Given the description of an element on the screen output the (x, y) to click on. 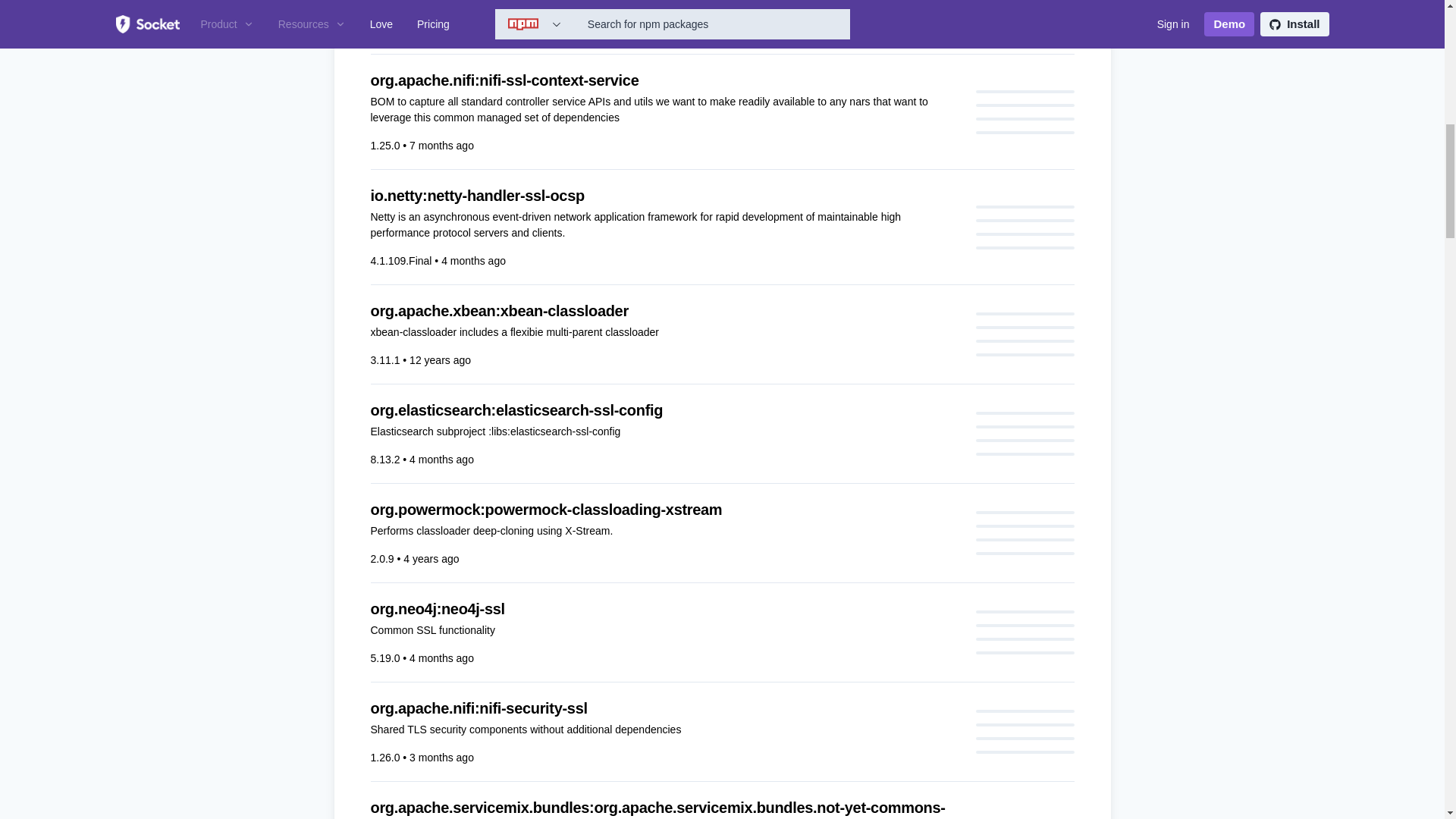
org.neo4j:neo4j-ssl (662, 608)
org.elasticsearch:elasticsearch-ssl-config (662, 409)
org.powermock:powermock-classloading-xstream (662, 509)
org.apache.nifi:nifi-security-ssl (662, 708)
org.apache.nifi:nifi-ssl-context-service (662, 79)
io.netty:netty-handler-ssl-ocsp (662, 195)
org.apache.xbean:xbean-classloader (662, 310)
